Given the description of an element on the screen output the (x, y) to click on. 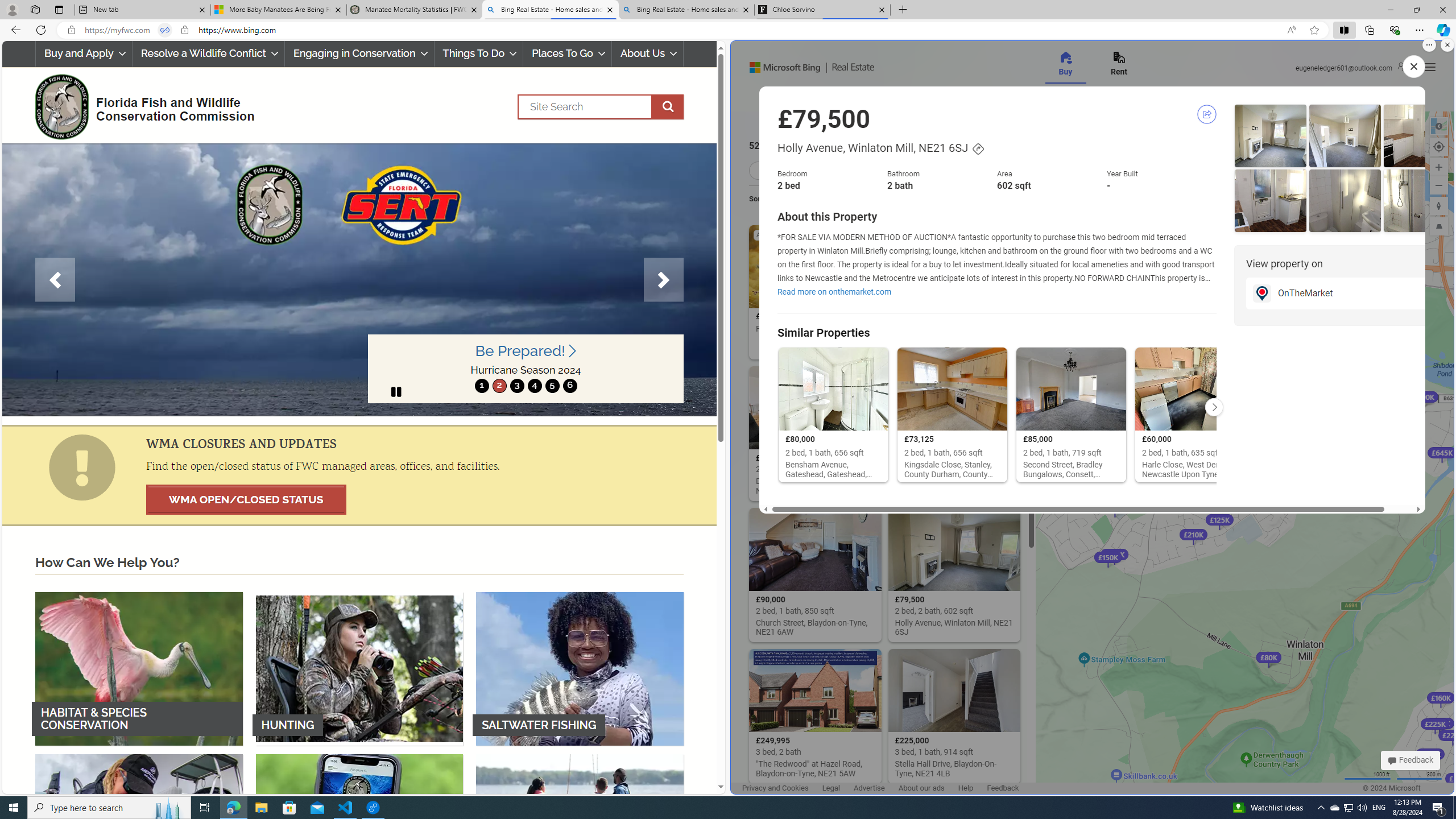
3 (516, 385)
Engaging in Conservation (358, 53)
Manatee Mortality Statistics | FWC (414, 9)
Things To Do (478, 53)
FWC Logo Florida Fish and Wildlife Conservation Commission (139, 104)
move to slide 1 (481, 385)
HABITAT & SPECIES CONSERVATION (138, 668)
Previous (54, 279)
